Given the description of an element on the screen output the (x, y) to click on. 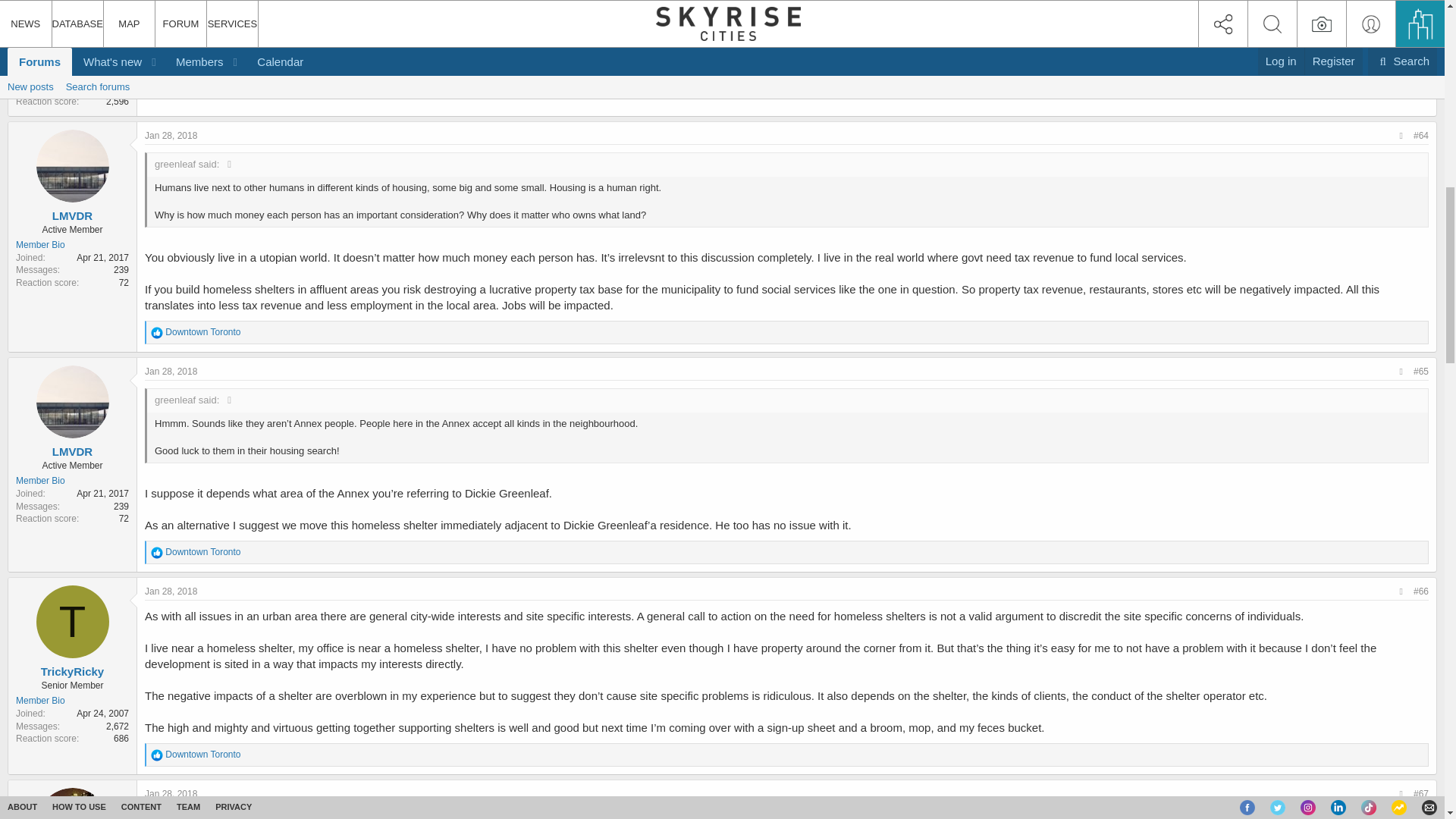
Like (157, 332)
Jan 28, 2018 at 5:13 PM (170, 371)
Jan 28, 2018 at 5:11 PM (170, 135)
